Given the description of an element on the screen output the (x, y) to click on. 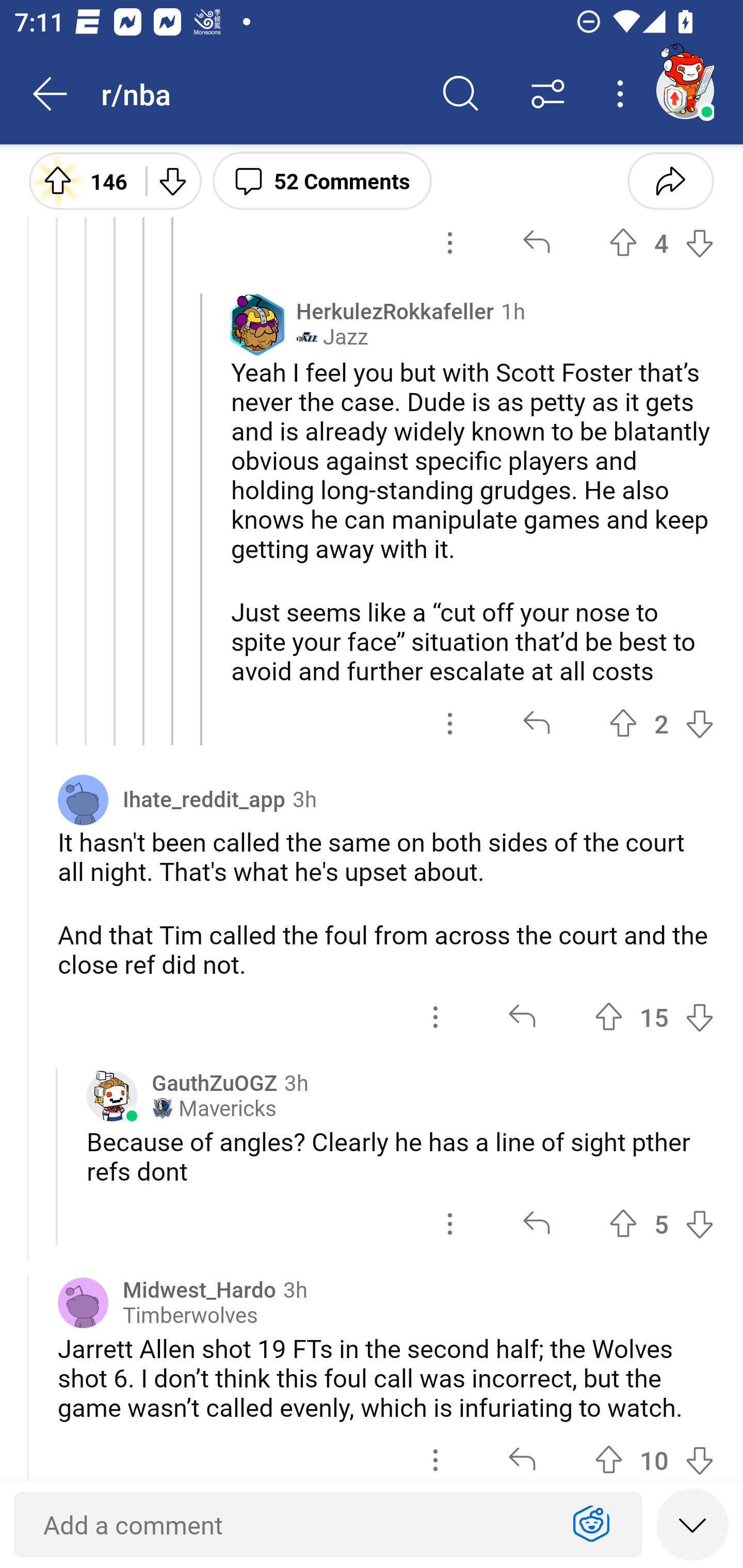
Back (50, 93)
TestAppium002 account (685, 90)
Search comments (460, 93)
Sort comments (547, 93)
More options (623, 93)
r/nba (259, 92)
Upvote 146 (79, 180)
Downvote (171, 180)
52 Comments (321, 180)
Share (670, 180)
options (449, 242)
Upvote 4 4 votes Downvote (661, 242)
￼ Jazz (332, 336)
options (449, 723)
Upvote 2 2 votes Downvote (661, 723)
Avatar (82, 799)
options (435, 1017)
Upvote 15 15 votes Downvote (654, 1017)
Custom avatar (111, 1095)
￼ Mavericks (214, 1108)
options (449, 1224)
Upvote 5 5 votes Downvote (661, 1224)
Avatar (82, 1302)
Timberwolves (190, 1315)
options (435, 1452)
Upvote 10 10 votes Downvote (654, 1452)
Speed read (692, 1524)
Add a comment (291, 1524)
Show Expressions (590, 1524)
